Given the description of an element on the screen output the (x, y) to click on. 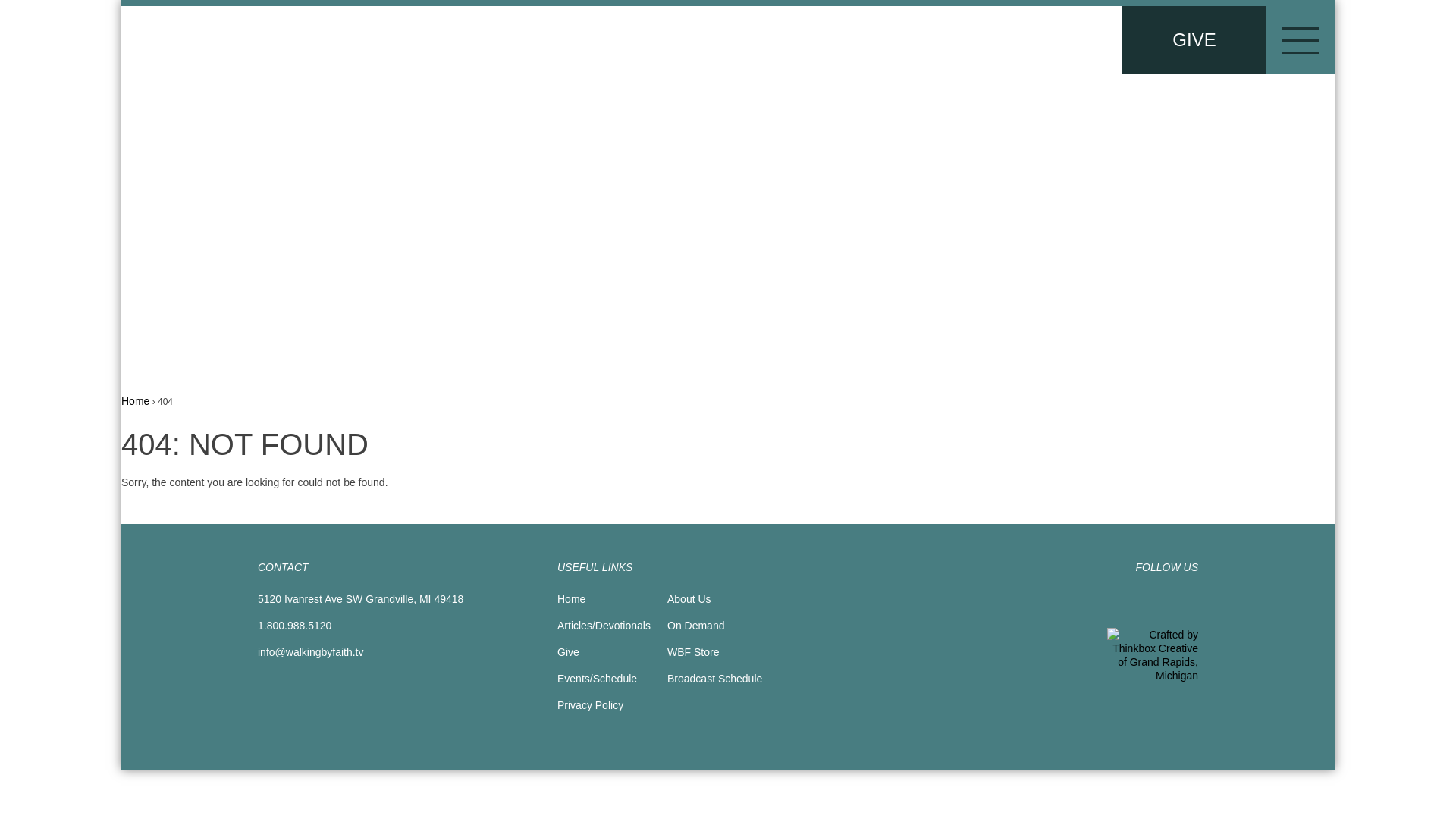
Walking By Faith Facebook (1158, 601)
1.800.988.5120 (294, 625)
WBF Store (692, 652)
Home (134, 400)
5120 Ivanrest Ave SW Grandville, MI 49418 (360, 598)
About Us (688, 598)
Broadcast Schedule (713, 678)
Walking By Faith (250, 42)
Home (571, 598)
Privacy Policy (590, 705)
